Given the description of an element on the screen output the (x, y) to click on. 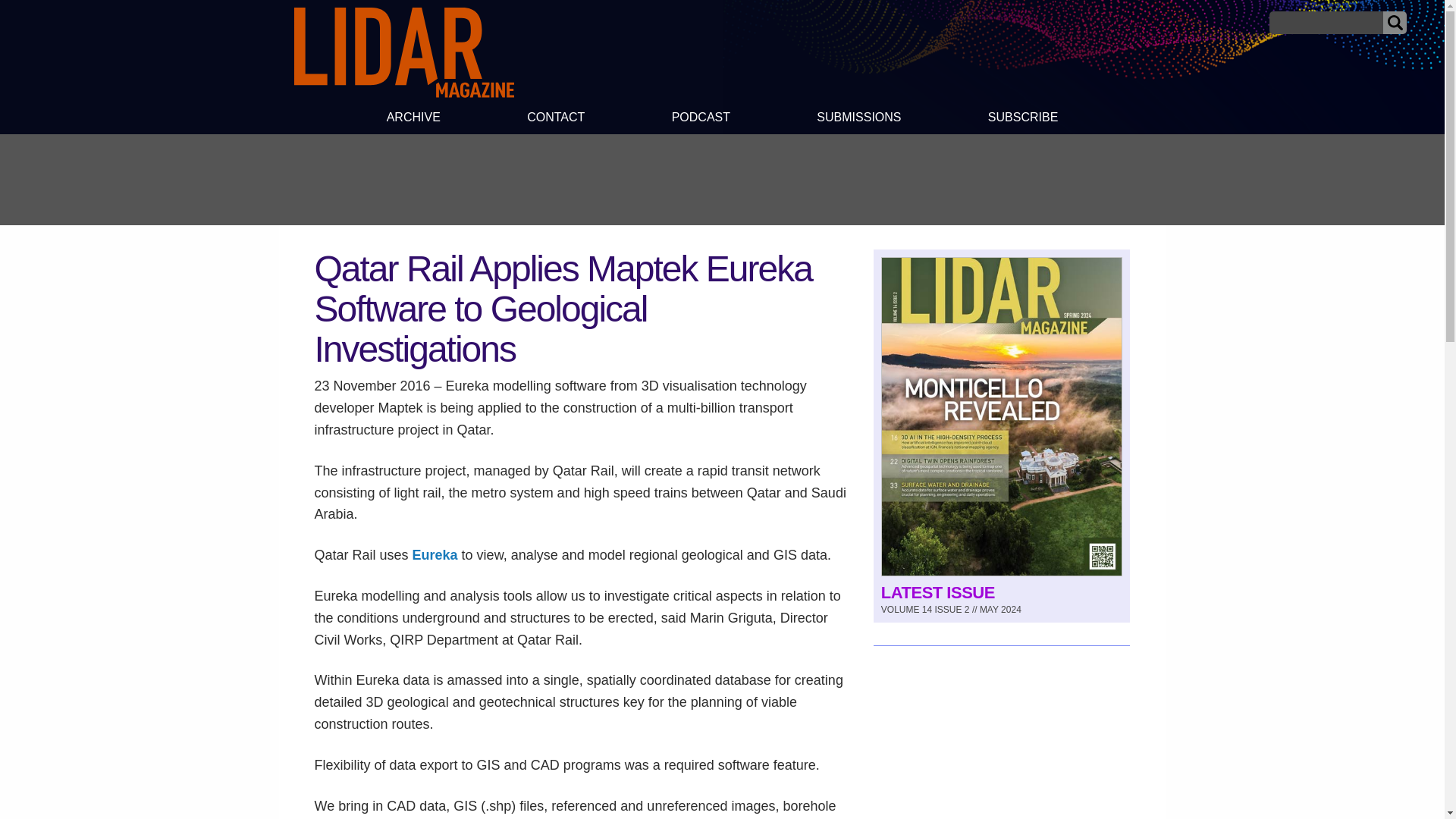
Eureka (435, 554)
3rd party ad content (721, 179)
Submit (1394, 22)
SUBSCRIBE (1023, 119)
CONTACT (555, 119)
LIDAR Magazine (403, 52)
SUBMISSIONS (858, 119)
Submit (1394, 22)
Submit (1394, 22)
LIDAR Magazine (403, 92)
ARCHIVE (412, 119)
Search for: (1326, 22)
PODCAST (700, 119)
